Given the description of an element on the screen output the (x, y) to click on. 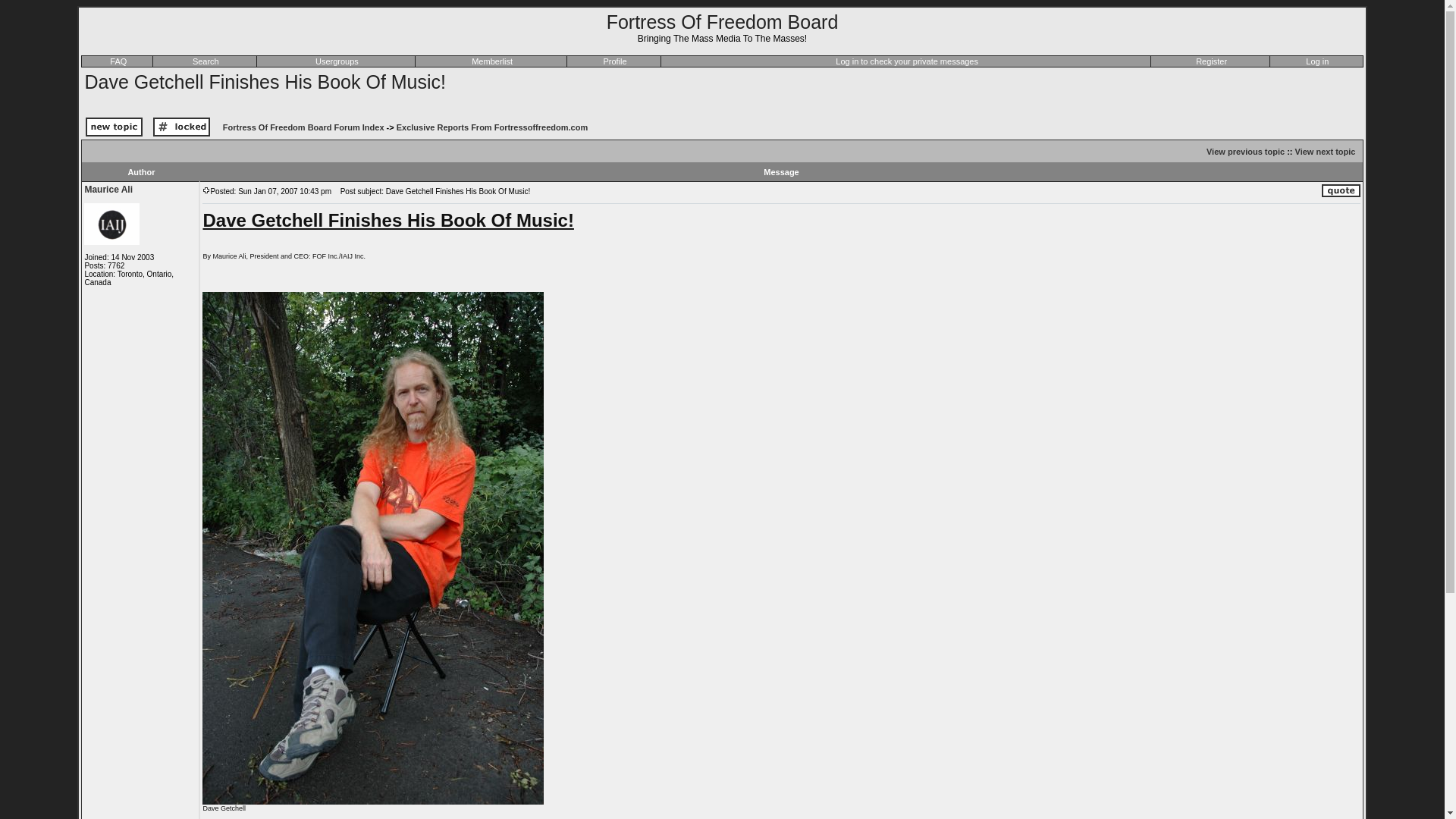
Log in (1316, 61)
Exclusive Reports From Fortressoffreedom.com (492, 126)
View previous topic (1245, 151)
View next topic (1325, 151)
Search (205, 61)
Profile (614, 61)
FAQ (118, 61)
Dave Getchell Finishes His Book Of Music! (264, 81)
Register (1211, 61)
Memberlist (491, 61)
Log in to check your private messages (906, 61)
Usergroups (336, 61)
Fortress Of Freedom Board Forum Index (303, 126)
